Given the description of an element on the screen output the (x, y) to click on. 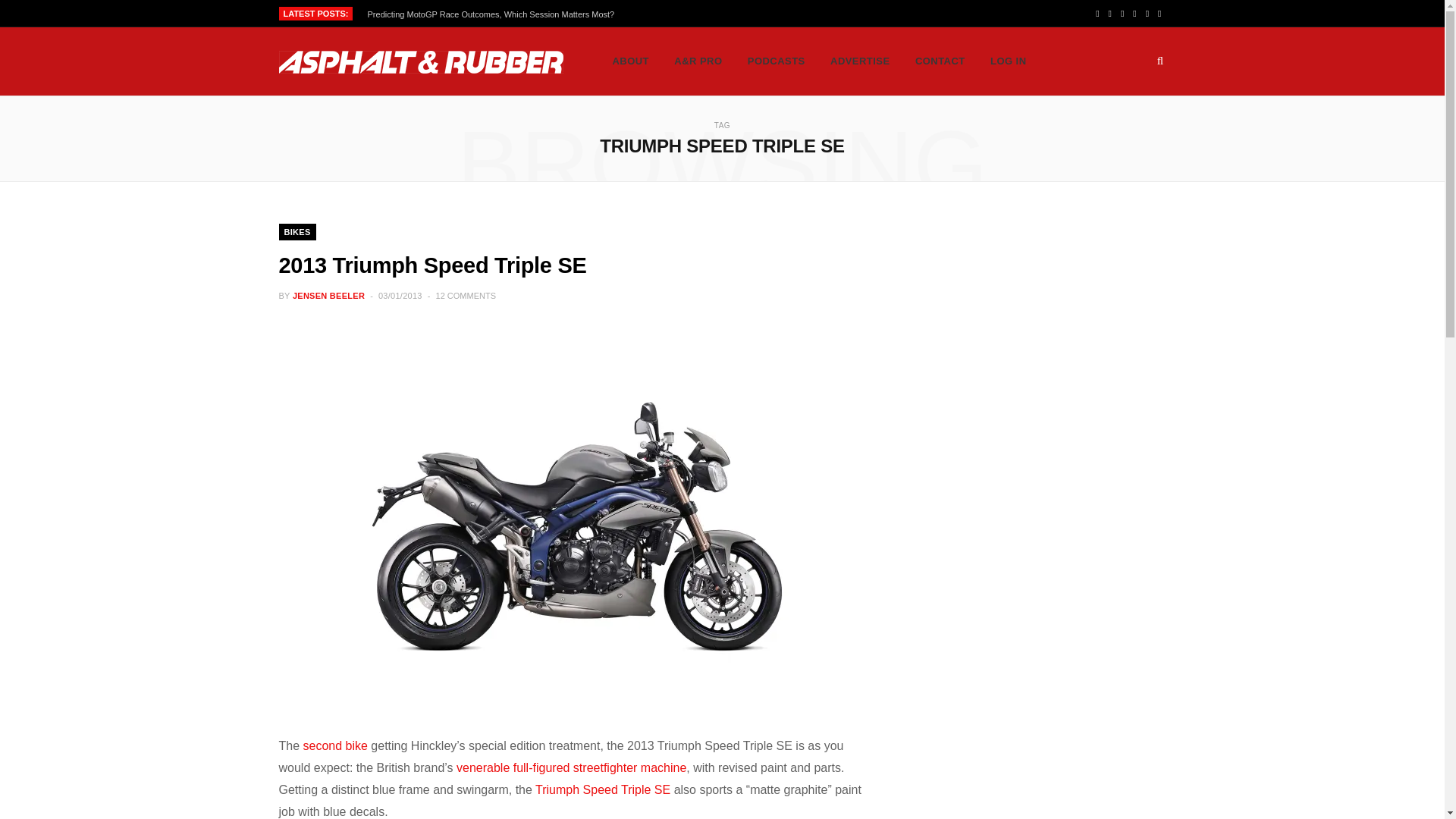
2013 Triumph Speed Triple SE (432, 265)
ADVERTISE (859, 61)
venerable full-figured streetfighter machine (571, 767)
BIKES (297, 231)
Predicting MotoGP Race Outcomes, Which Session Matters Most? (495, 14)
Triumph Speed Triple SE (602, 789)
PODCASTS (776, 61)
Triumph Bonneville SE (335, 745)
Predicting MotoGP Race Outcomes, Which Session Matters Most? (495, 14)
